Given the description of an element on the screen output the (x, y) to click on. 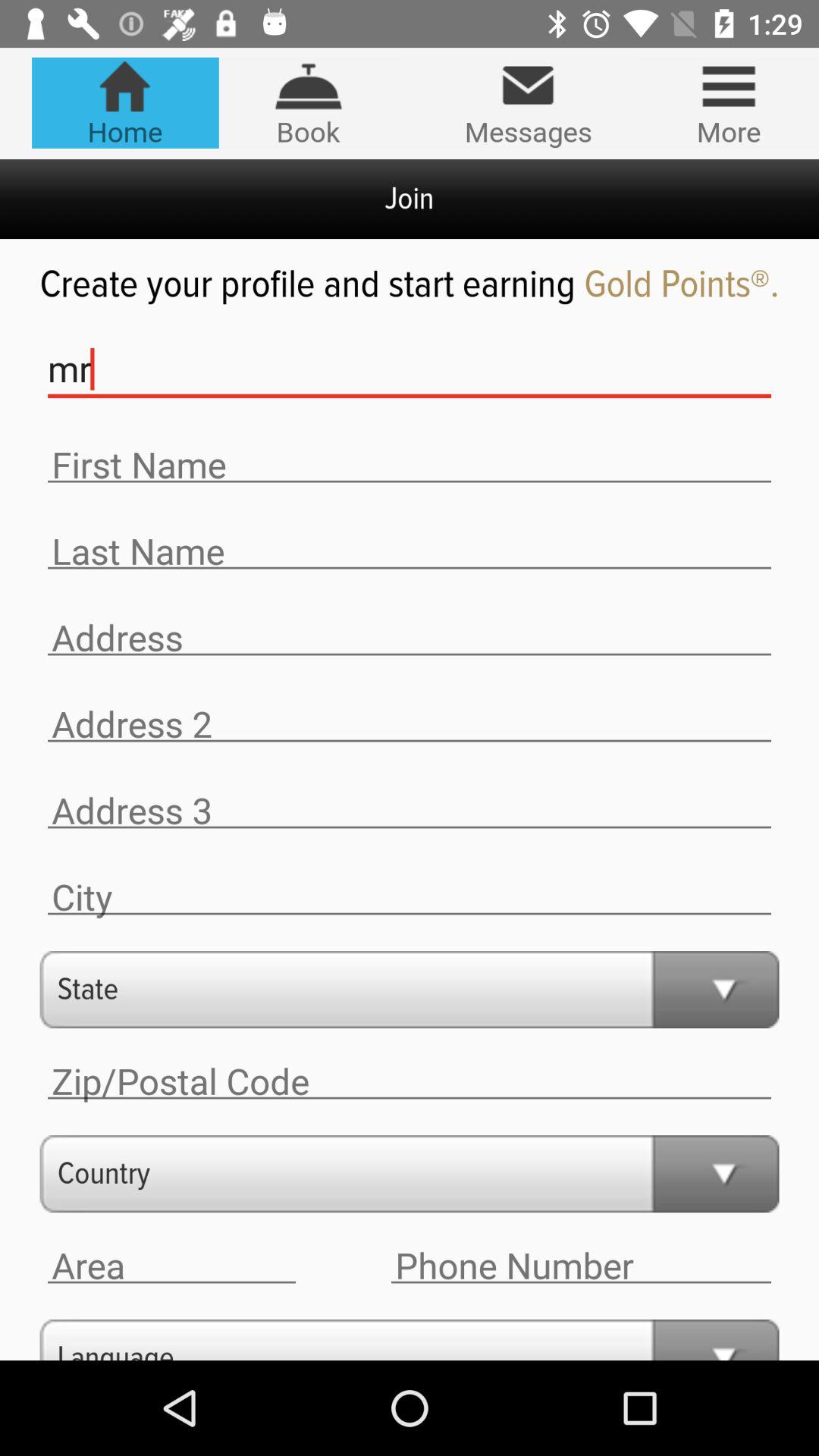
enter zipcode option (409, 1081)
